Given the description of an element on the screen output the (x, y) to click on. 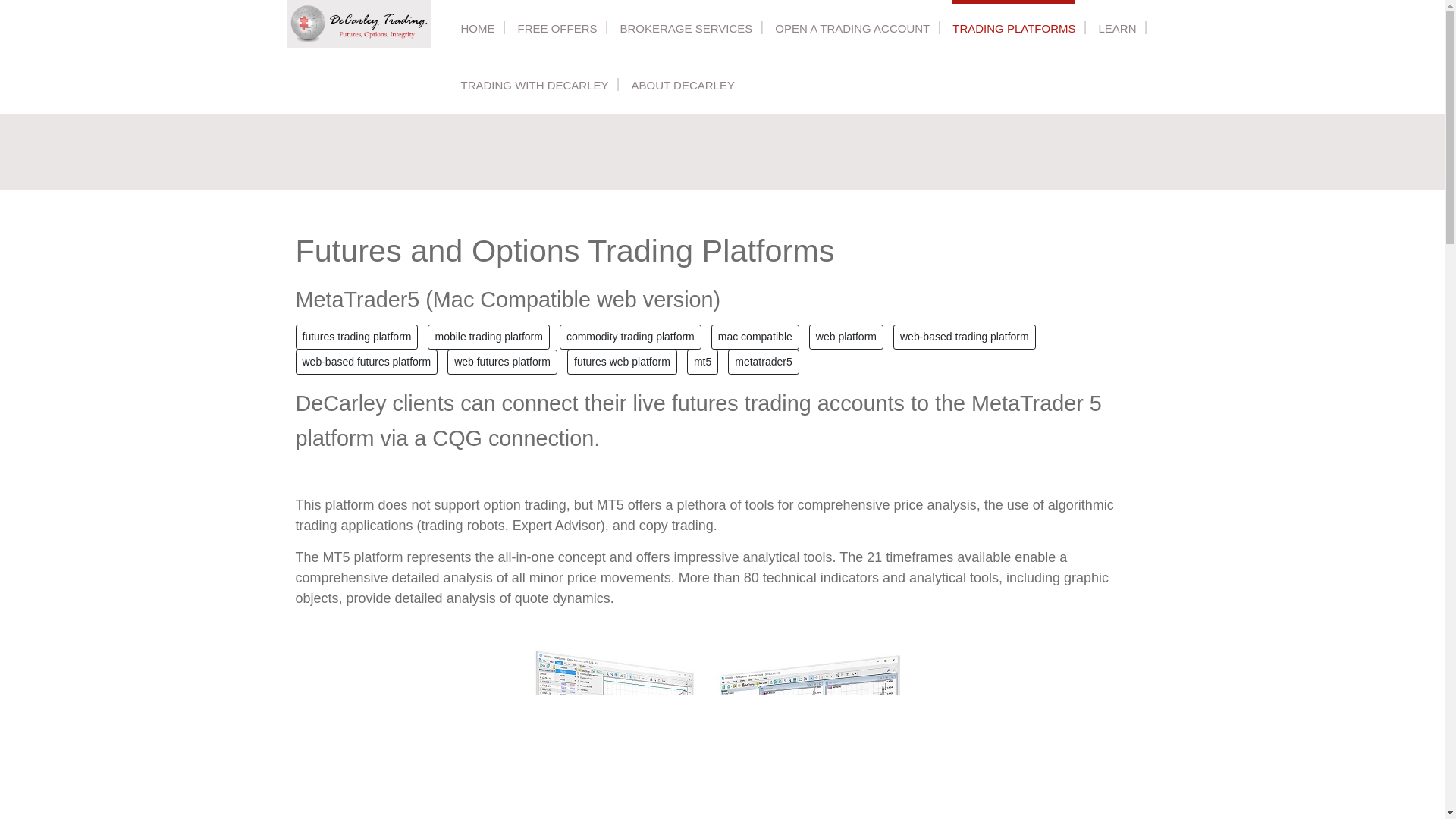
OPEN A TRADING ACCOUNT (852, 28)
FREE OFFERS (556, 28)
BROKERAGE SERVICES (686, 28)
